Given the description of an element on the screen output the (x, y) to click on. 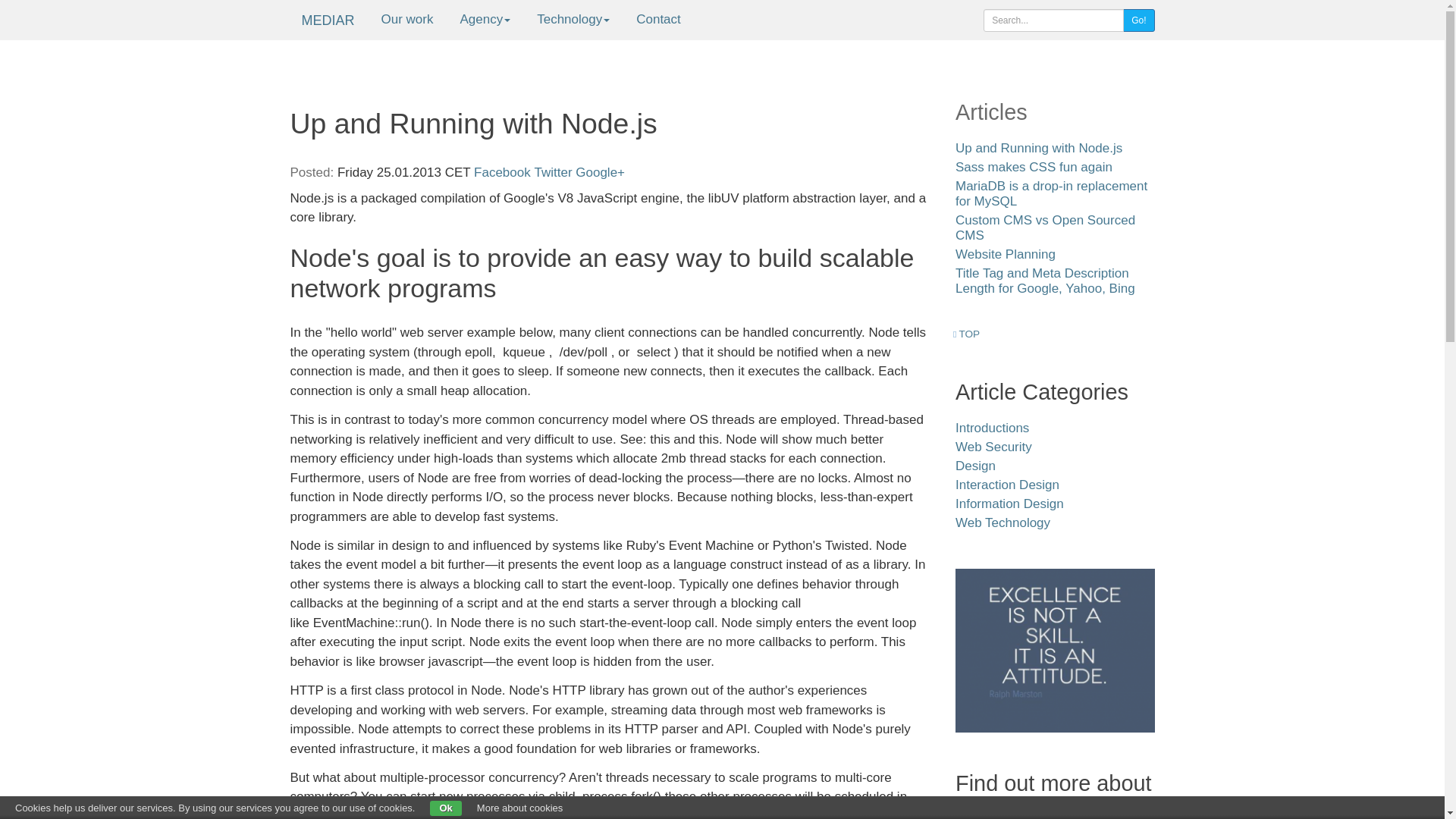
Sass makes CSS fun again (1033, 166)
Technology (573, 19)
MariaDB is a drop-in replacement for MySQL (1051, 193)
Go! (1138, 20)
Website Planning (1005, 254)
Facebook (502, 172)
Twitter (553, 172)
Find out more about Up and Running with Node.js (1038, 147)
Our work (407, 19)
Find out more about Sass makes CSS fun again (1033, 166)
Contact (658, 19)
Articles (991, 111)
Agency (484, 19)
MEDIAR (327, 18)
Learn more about Articles (991, 111)
